Given the description of an element on the screen output the (x, y) to click on. 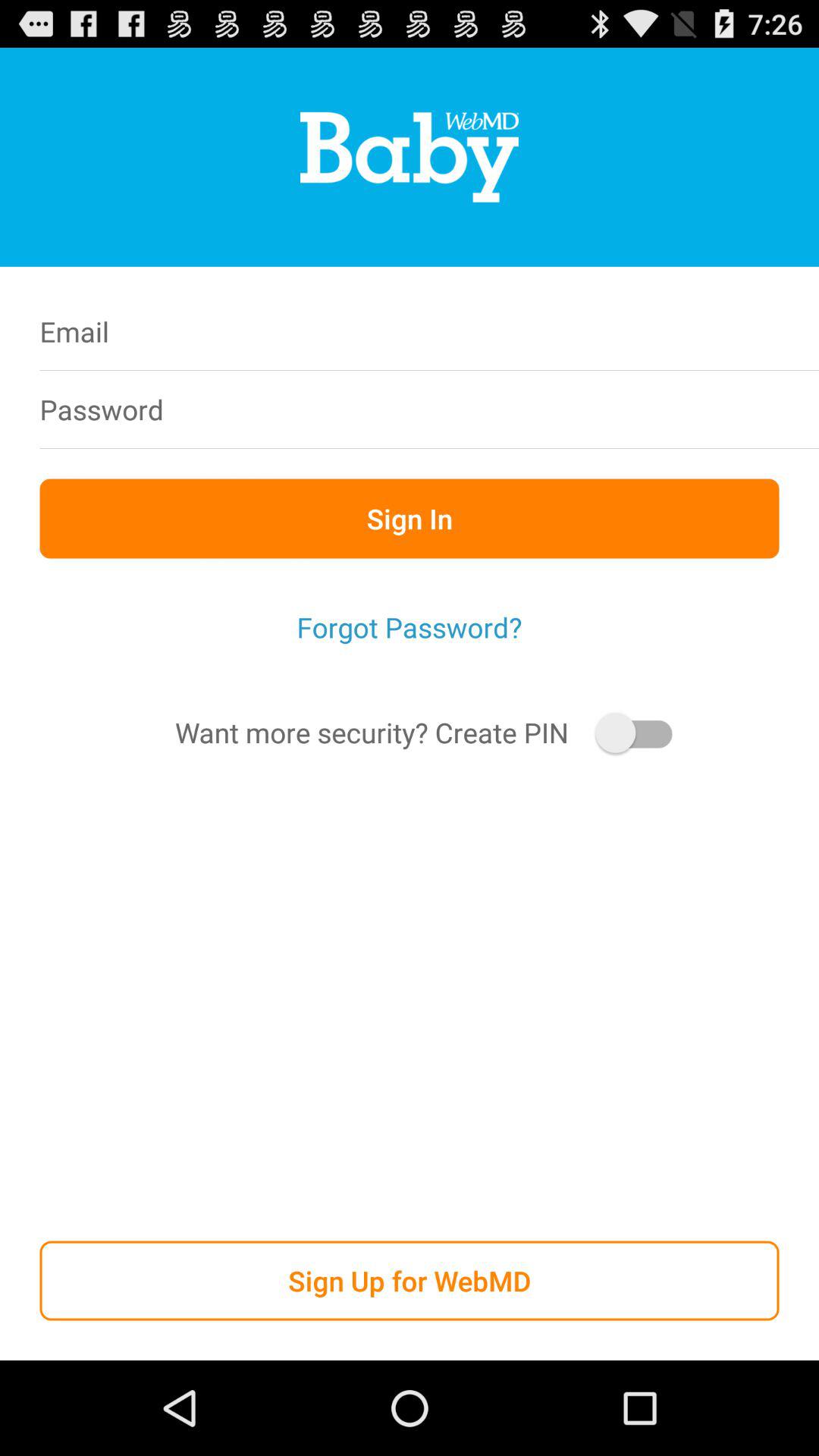
password box (507, 409)
